Given the description of an element on the screen output the (x, y) to click on. 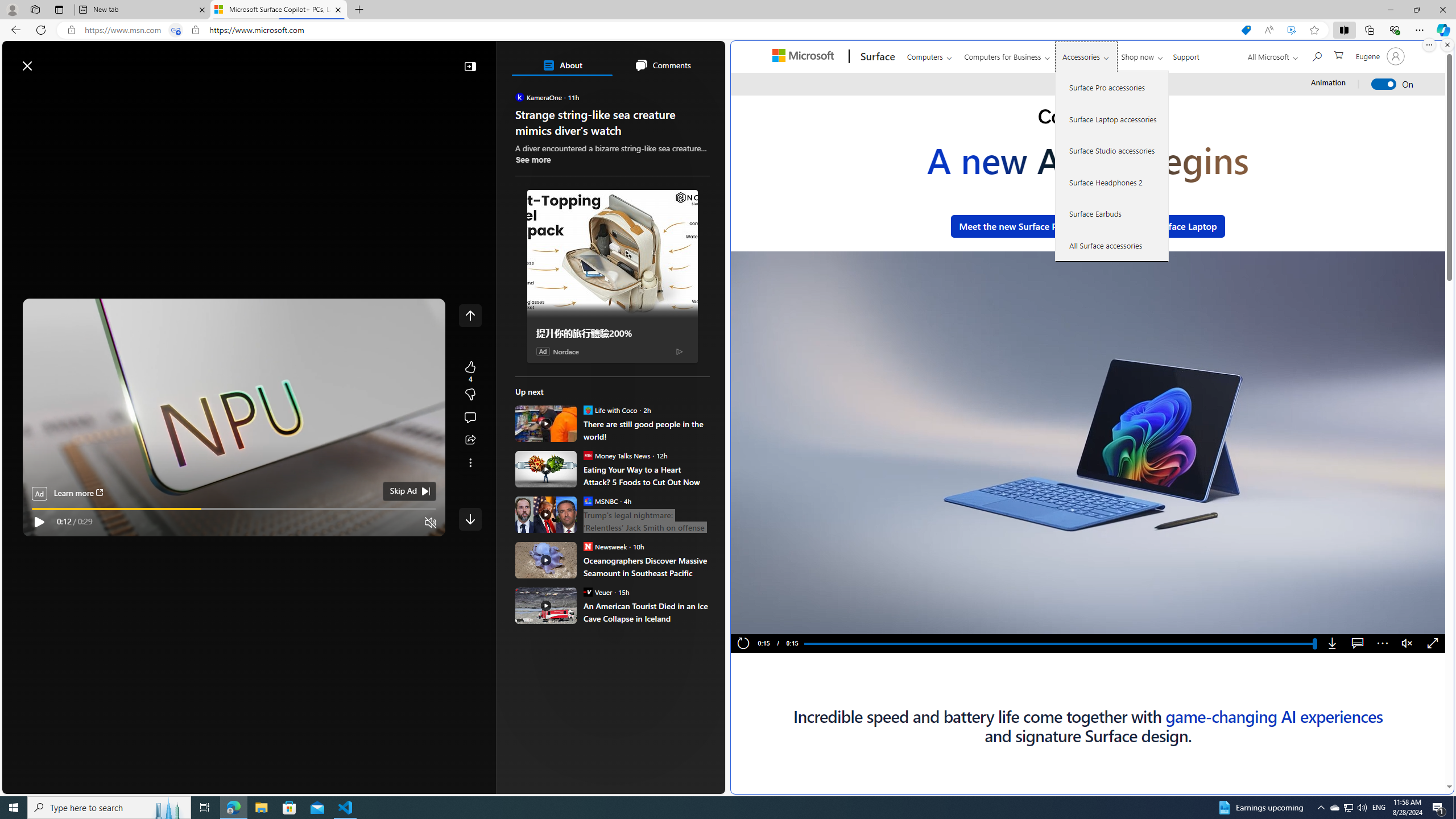
About (561, 64)
Skip to footer (46, 59)
Start the conversation (469, 417)
Eating Your Way to a Heart Attack? 5 Foods to Cut Out Now (545, 468)
The Associated Press (554, 366)
KameraOne (519, 96)
Unmute (1406, 643)
